Given the description of an element on the screen output the (x, y) to click on. 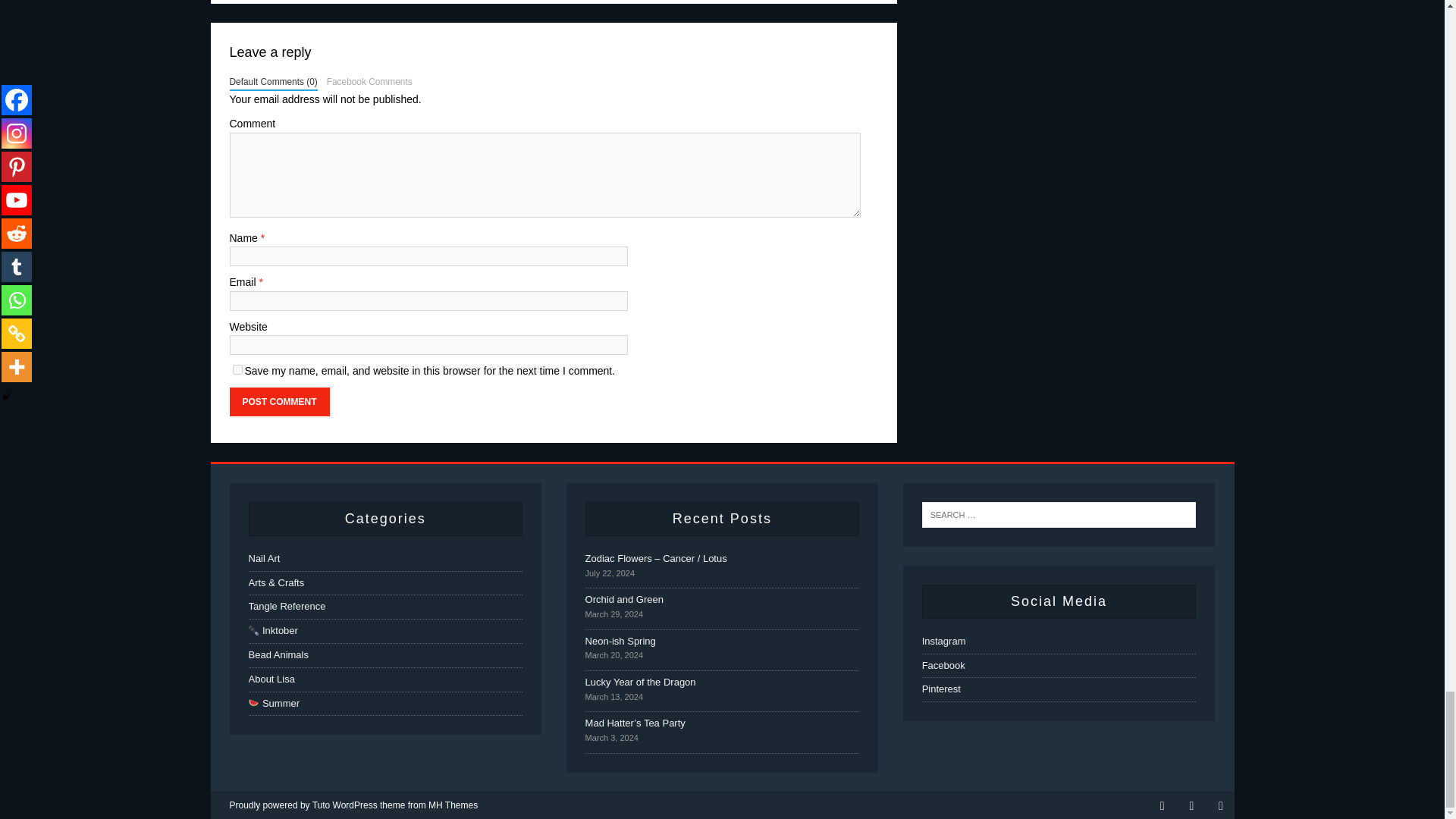
yes (236, 369)
Post Comment (278, 401)
